Given the description of an element on the screen output the (x, y) to click on. 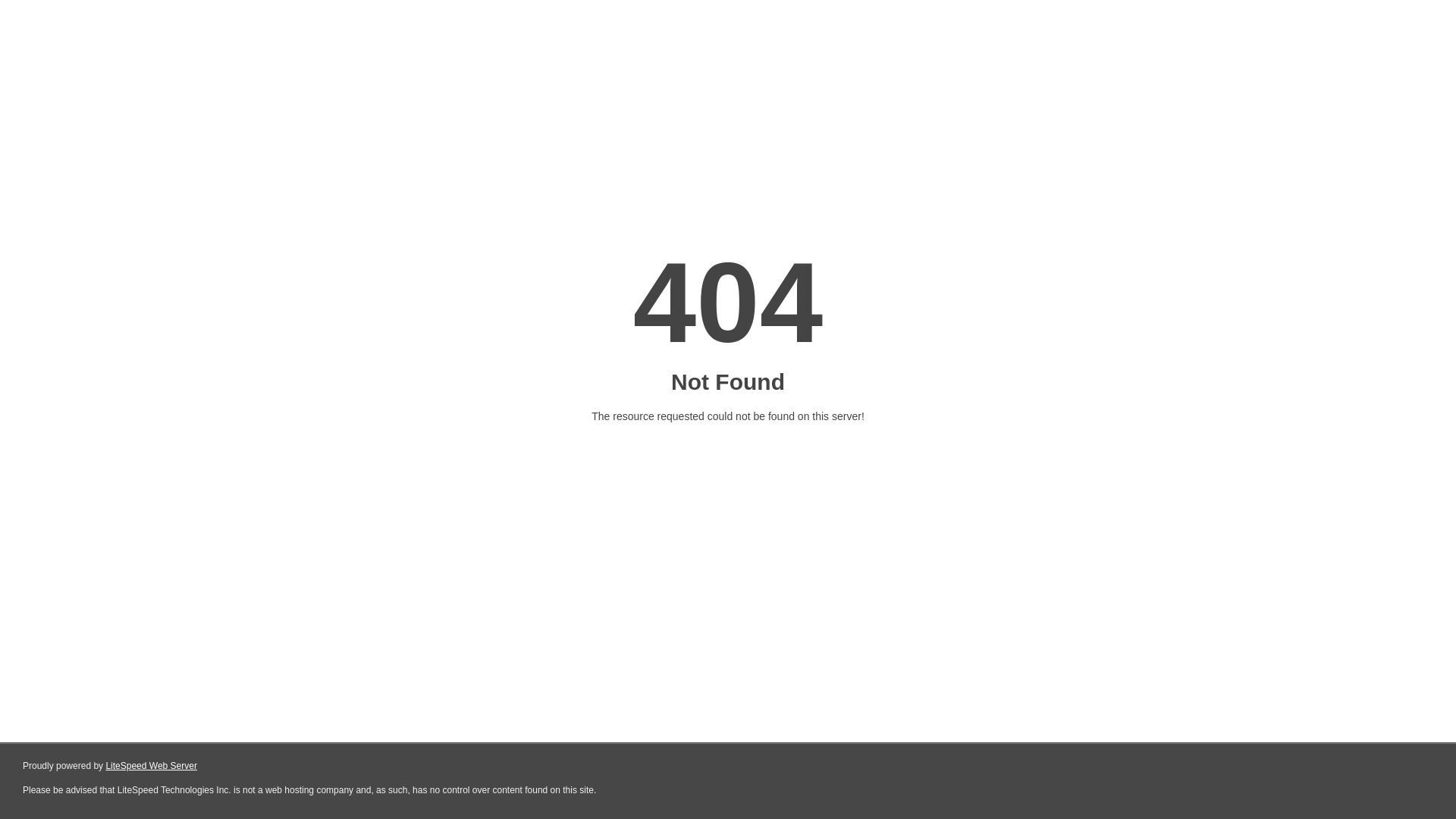
LiteSpeed Web Server Element type: text (151, 765)
